Given the description of an element on the screen output the (x, y) to click on. 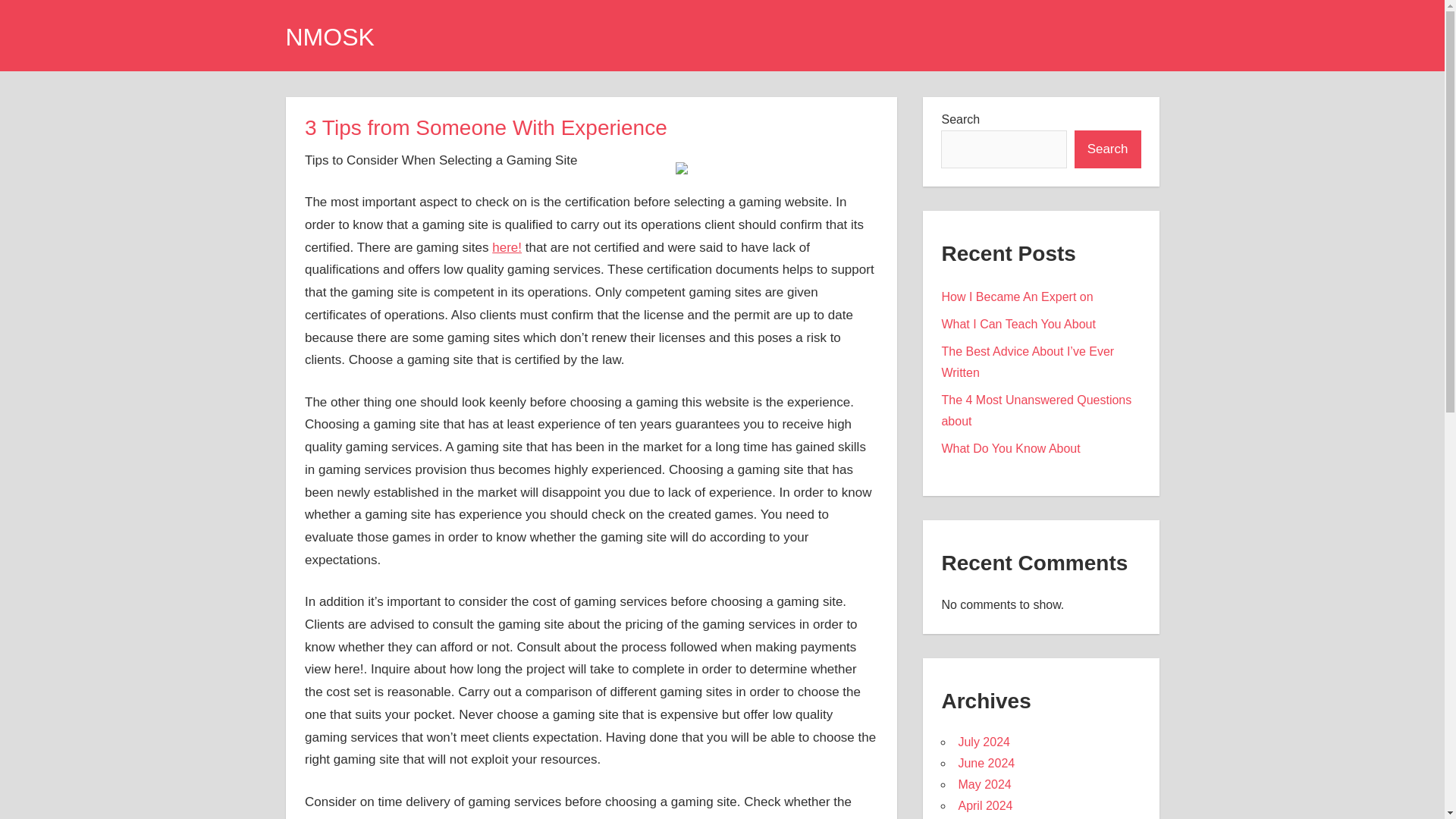
this service (637, 817)
April 2024 (984, 805)
Search (1107, 149)
June 2024 (986, 762)
May 2024 (984, 784)
NMOSK (329, 36)
How I Became An Expert on (1016, 296)
The 4 Most Unanswered Questions about (1035, 410)
What Do You Know About (1010, 448)
July 2024 (984, 741)
What I Can Teach You About (1017, 323)
here! (506, 247)
